Given the description of an element on the screen output the (x, y) to click on. 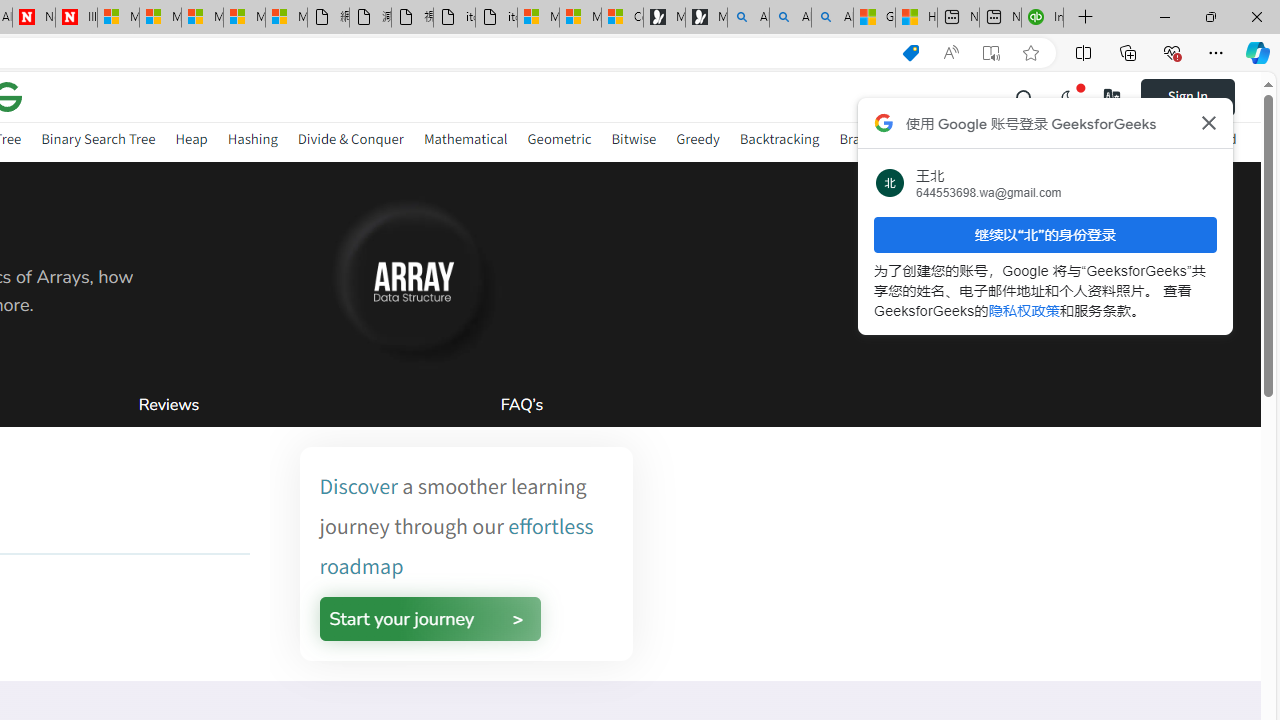
Geometric (559, 142)
Greedy (697, 142)
Branch and Bound (895, 142)
Sign In (1187, 96)
Intuit QuickBooks Online - Quickbooks (1042, 17)
Backtracking (779, 138)
Consumer Health Data Privacy Policy (621, 17)
Divide & Conquer (349, 138)
Backtracking (779, 142)
Illness news & latest pictures from Newsweek.com (76, 17)
Geometric (559, 138)
Heap (191, 142)
